Given the description of an element on the screen output the (x, y) to click on. 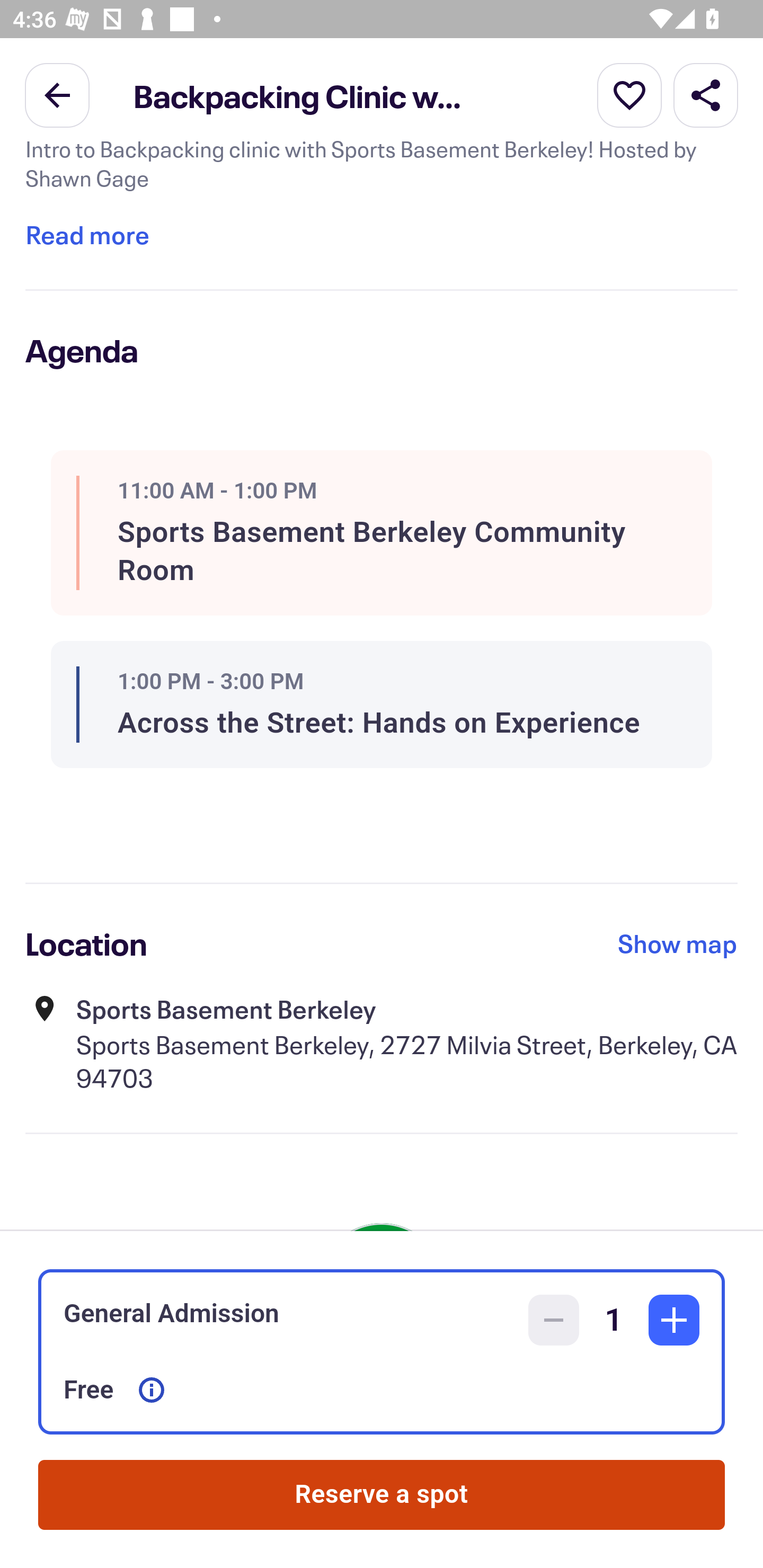
Back (57, 94)
More (629, 94)
Share (705, 94)
Read more (87, 234)
Show map (677, 942)
Decrease (553, 1320)
Increase (673, 1320)
Show more information (151, 1389)
Reserve a spot (381, 1494)
